Given the description of an element on the screen output the (x, y) to click on. 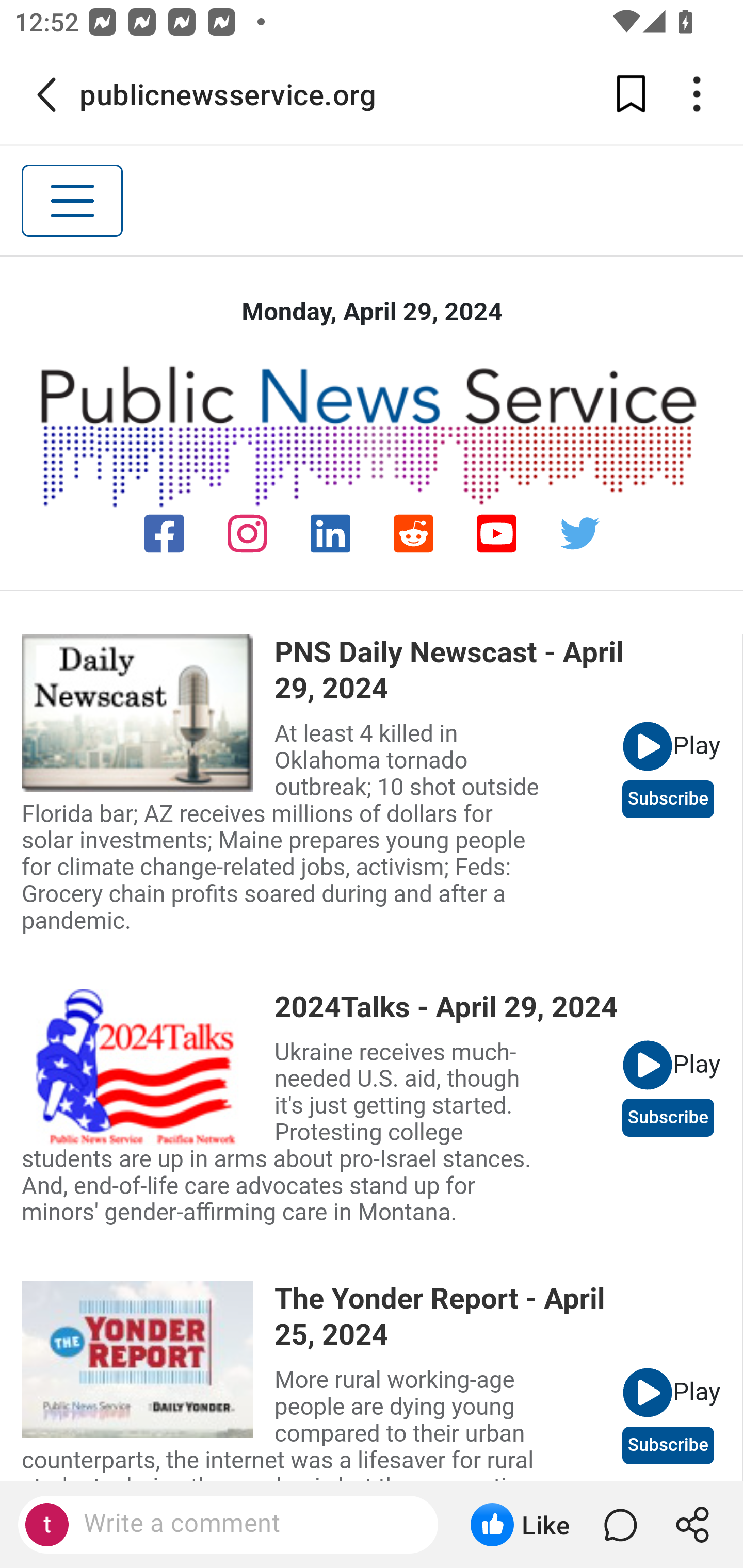
Toggle navigation (71, 201)
Public News Service Logo (371, 435)
facebook (164, 533)
instagram (247, 533)
linkedin (331, 533)
reddit (413, 533)
youtube (495, 533)
twitter (578, 533)
view newscast page (147, 713)
PNS Daily Newscast - April 29, 2024 (449, 670)
play newscast audio (647, 747)
Subscribe (667, 798)
view newscast page (147, 1066)
2024Talks - April 29, 2024 (449, 1006)
play newscast audio (647, 1063)
Subscribe (667, 1116)
view newscast page (147, 1359)
The Yonder Report - April 25, 2024 (449, 1316)
play newscast audio (647, 1393)
Subscribe (667, 1445)
Like (519, 1524)
Write a comment (227, 1524)
Write a comment (245, 1523)
